Given the description of an element on the screen output the (x, y) to click on. 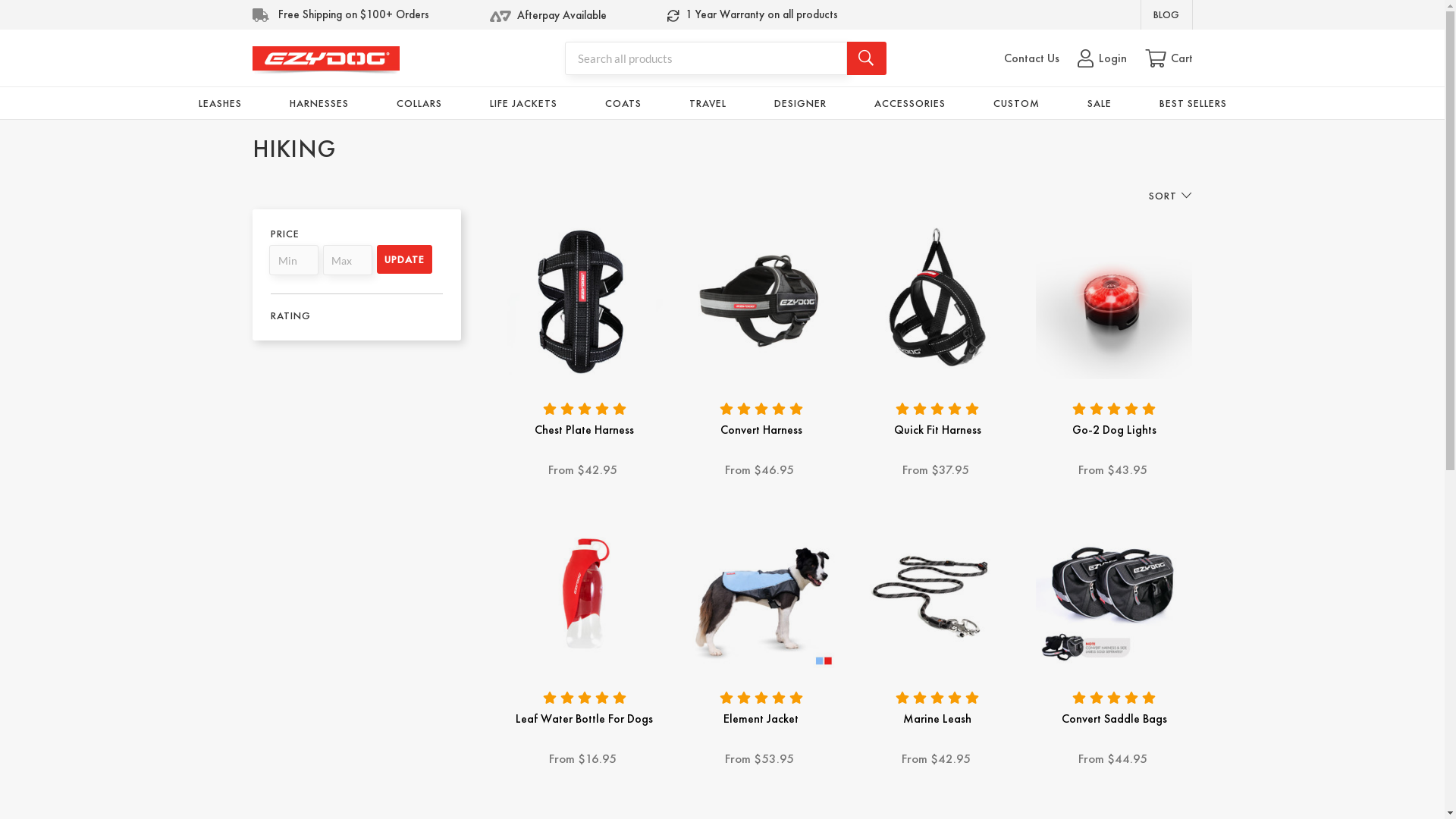
EzyDog Australia Element type: hover (324, 60)
Dog Water Bottle Element type: hover (584, 589)
Element Jacket Element type: hover (760, 589)
LEASHES Element type: text (219, 103)
CUSTOM Element type: text (1016, 103)
BEST SELLERS Element type: text (1192, 103)
Charcoal Element type: hover (760, 300)
Convert Harness Element type: text (761, 429)
Chest Plate Harness Element type: text (583, 429)
UPDATE Element type: text (404, 258)
Convert Saddle Bags Element type: hover (1113, 589)
LIFE JACKETS Element type: text (523, 103)
EzyDog Dog Light Element type: hover (1113, 300)
Marine Leash Black Element type: hover (937, 589)
Marine Leash Element type: text (937, 718)
Cart Element type: text (1168, 58)
Quick Fit -  Black Element type: hover (937, 300)
ACCESSORIES Element type: text (909, 103)
COATS Element type: text (623, 103)
Leaf Water Bottle For Dogs Element type: text (583, 718)
Element Jacket Element type: text (760, 718)
Chest Plate Black Element type: hover (584, 300)
COLLARS Element type: text (418, 103)
TRAVEL Element type: text (707, 103)
DESIGNER Element type: text (800, 103)
Quick Fit Harness Element type: text (937, 429)
SALE Element type: text (1099, 103)
Go-2 Dog Lights Element type: text (1114, 429)
HARNESSES Element type: text (318, 103)
Login Element type: text (1101, 58)
Convert Saddle Bags Element type: text (1114, 718)
BLOG Element type: text (1166, 14)
Contact Us Element type: text (1031, 58)
